Given the description of an element on the screen output the (x, y) to click on. 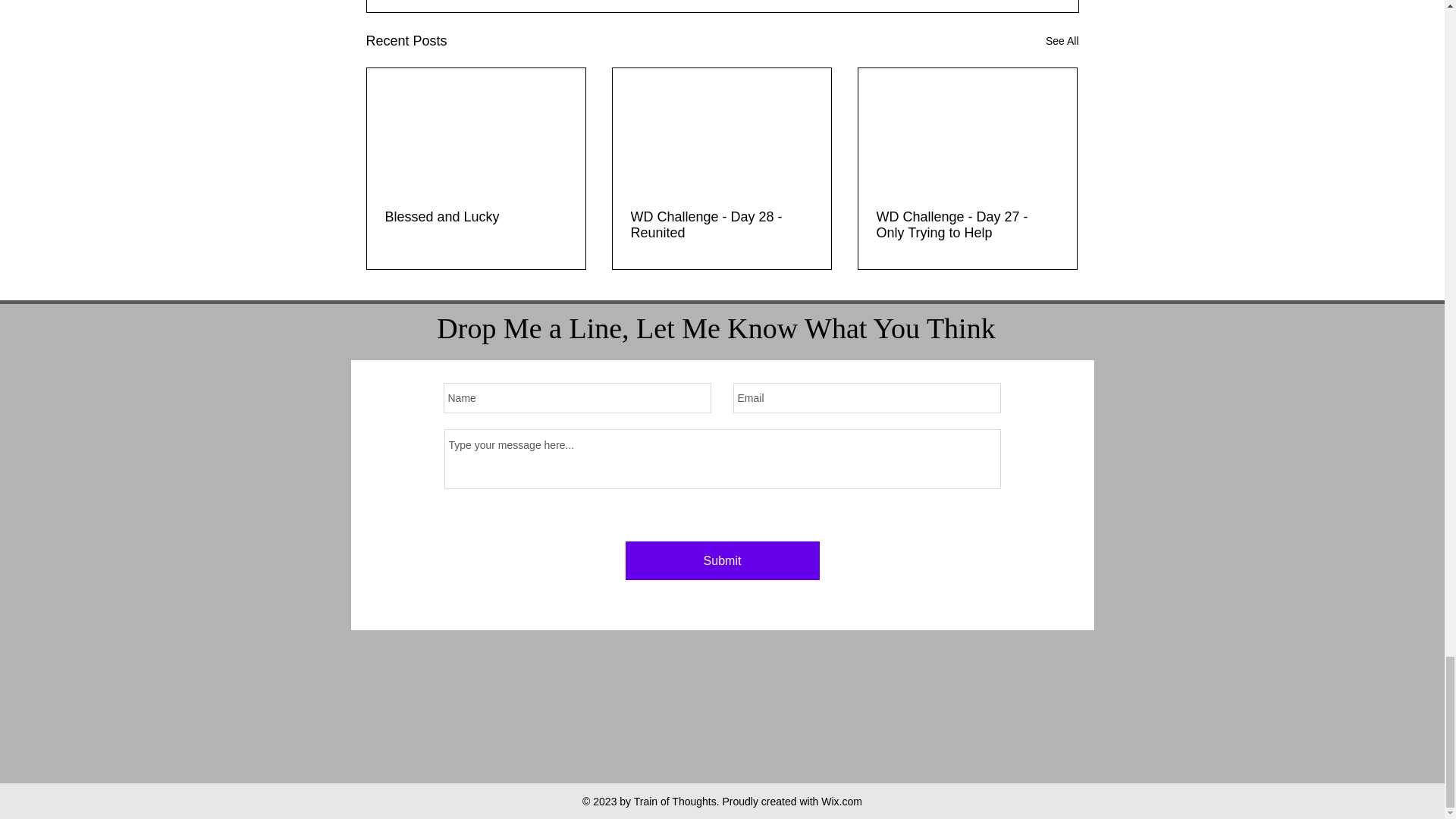
Blessed and Lucky (476, 217)
WD Challenge - Day 28 - Reunited (721, 224)
See All (1061, 41)
Wix.com (841, 801)
WD Challenge - Day 27 - Only Trying to Help (967, 224)
Submit (721, 560)
